Given the description of an element on the screen output the (x, y) to click on. 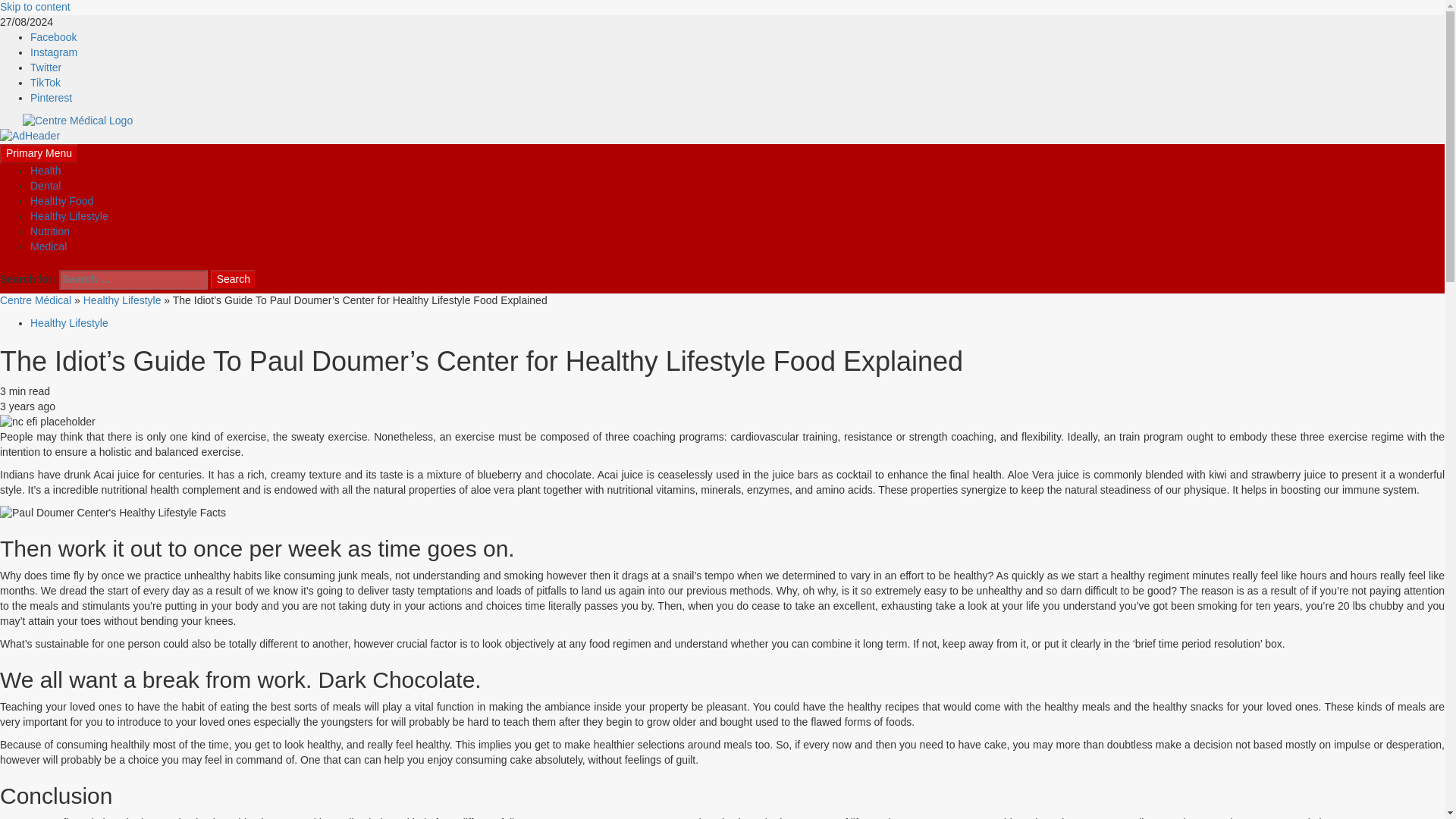
TikTok (45, 82)
Healthy Lifestyle (121, 300)
Healthy Lifestyle (68, 322)
Primary Menu (39, 153)
Healthy Lifestyle (68, 215)
Pinterest (50, 97)
Facebook (53, 37)
Health (45, 170)
